Given the description of an element on the screen output the (x, y) to click on. 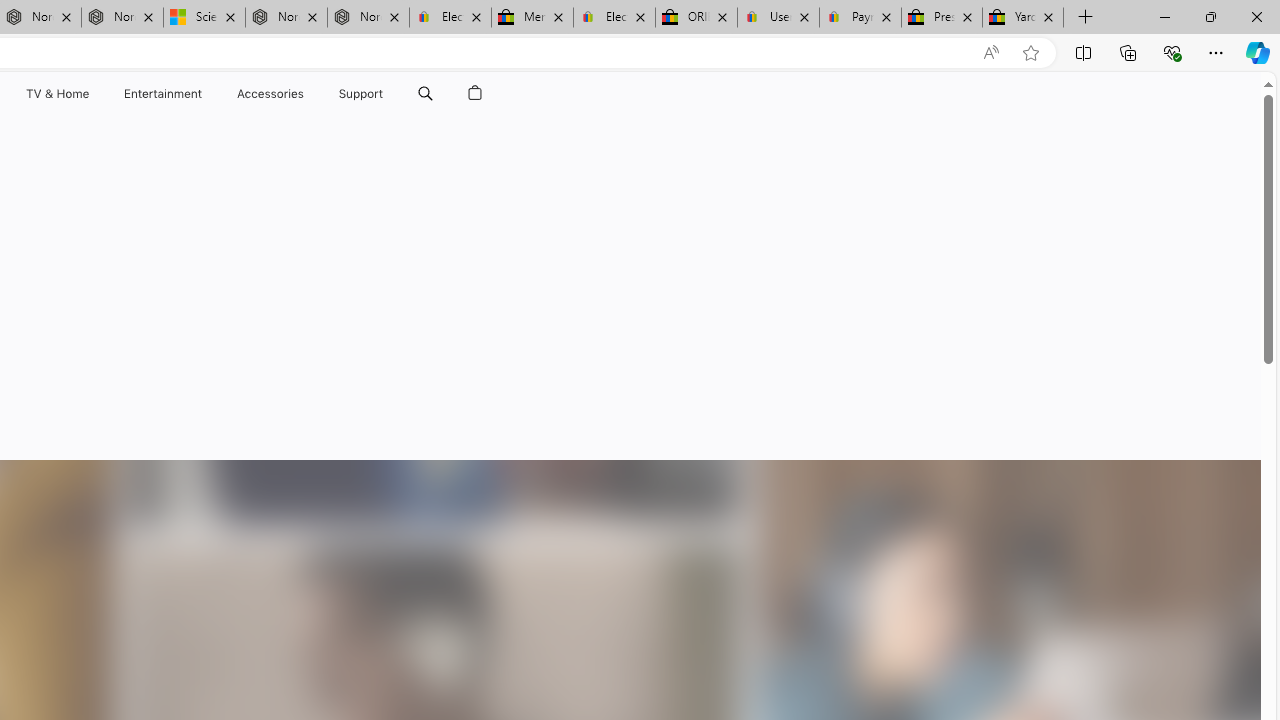
Entertainment menu (205, 93)
AutomationID: globalnav-bag (475, 93)
Press Room - eBay Inc. (941, 17)
Class: globalnav-submenu-trigger-item (387, 93)
Support (361, 93)
TV and Home menu (92, 93)
Support menu (387, 93)
